Given the description of an element on the screen output the (x, y) to click on. 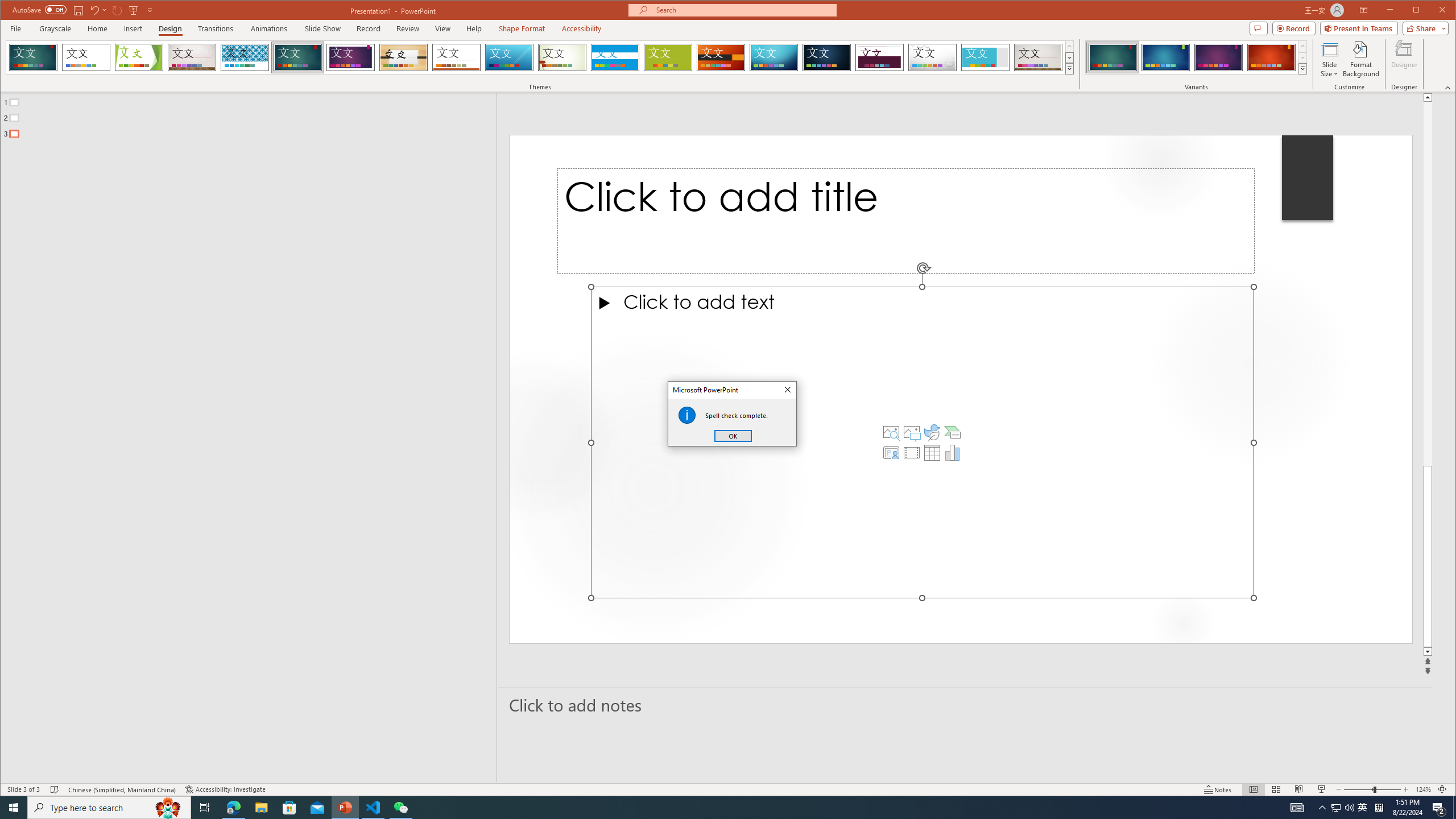
AutomationID: SlideThemesGallery (540, 57)
Damask (826, 57)
OK (732, 435)
Zoom 124% (1422, 789)
